Given the description of an element on the screen output the (x, y) to click on. 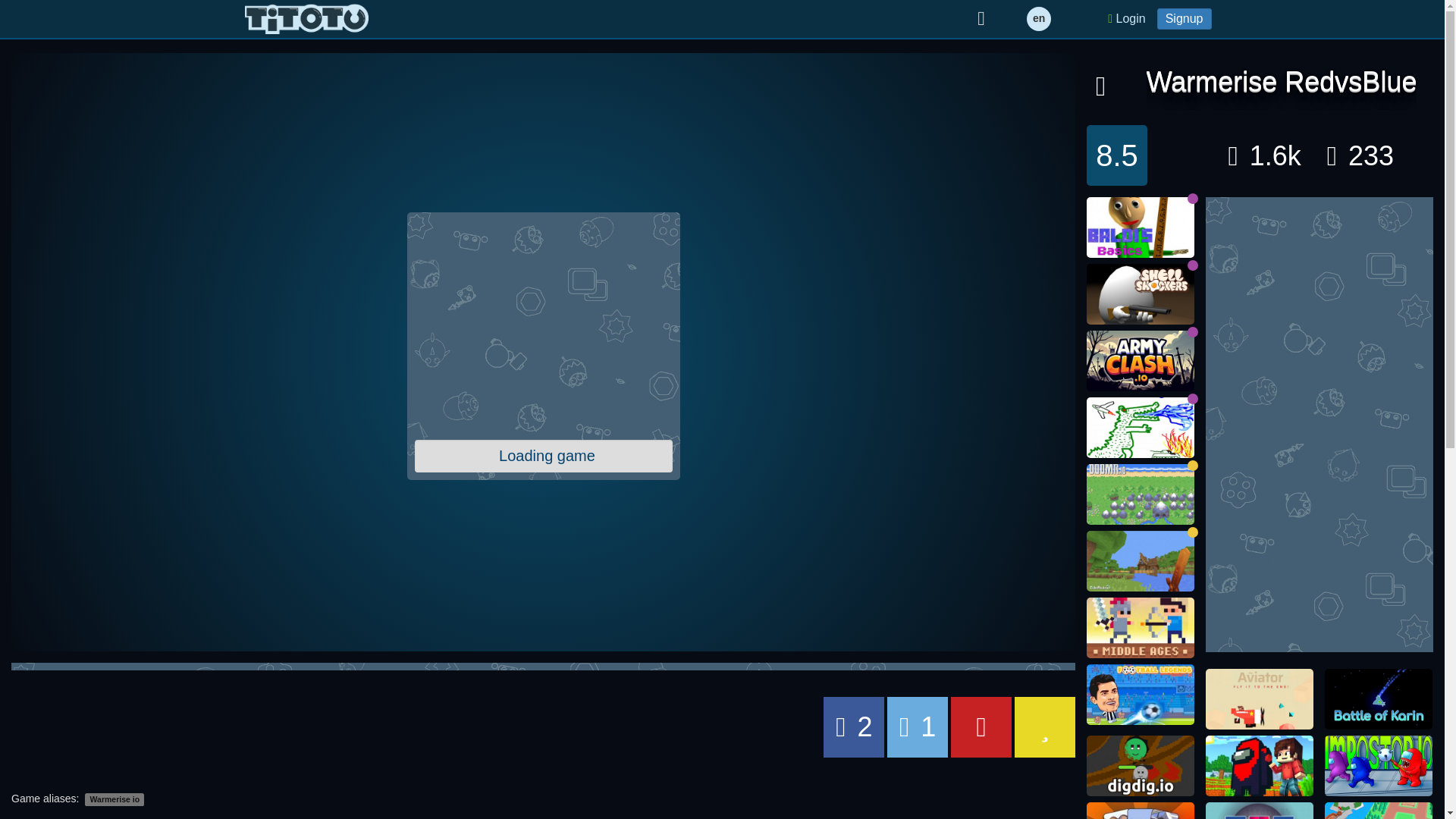
Share on twitter (916, 726)
ArmyClash io (1139, 360)
Add to favorites! (1100, 84)
Like the game! (1265, 155)
Signup (1184, 18)
Share on bookmark (1044, 726)
Shell Shockers (1139, 293)
2 (853, 726)
Drawpi co (1139, 427)
1 (916, 726)
en (1038, 18)
 Login (1126, 18)
Advertisement (542, 326)
Baldi's Basics (1139, 227)
233 (1360, 155)
